Given the description of an element on the screen output the (x, y) to click on. 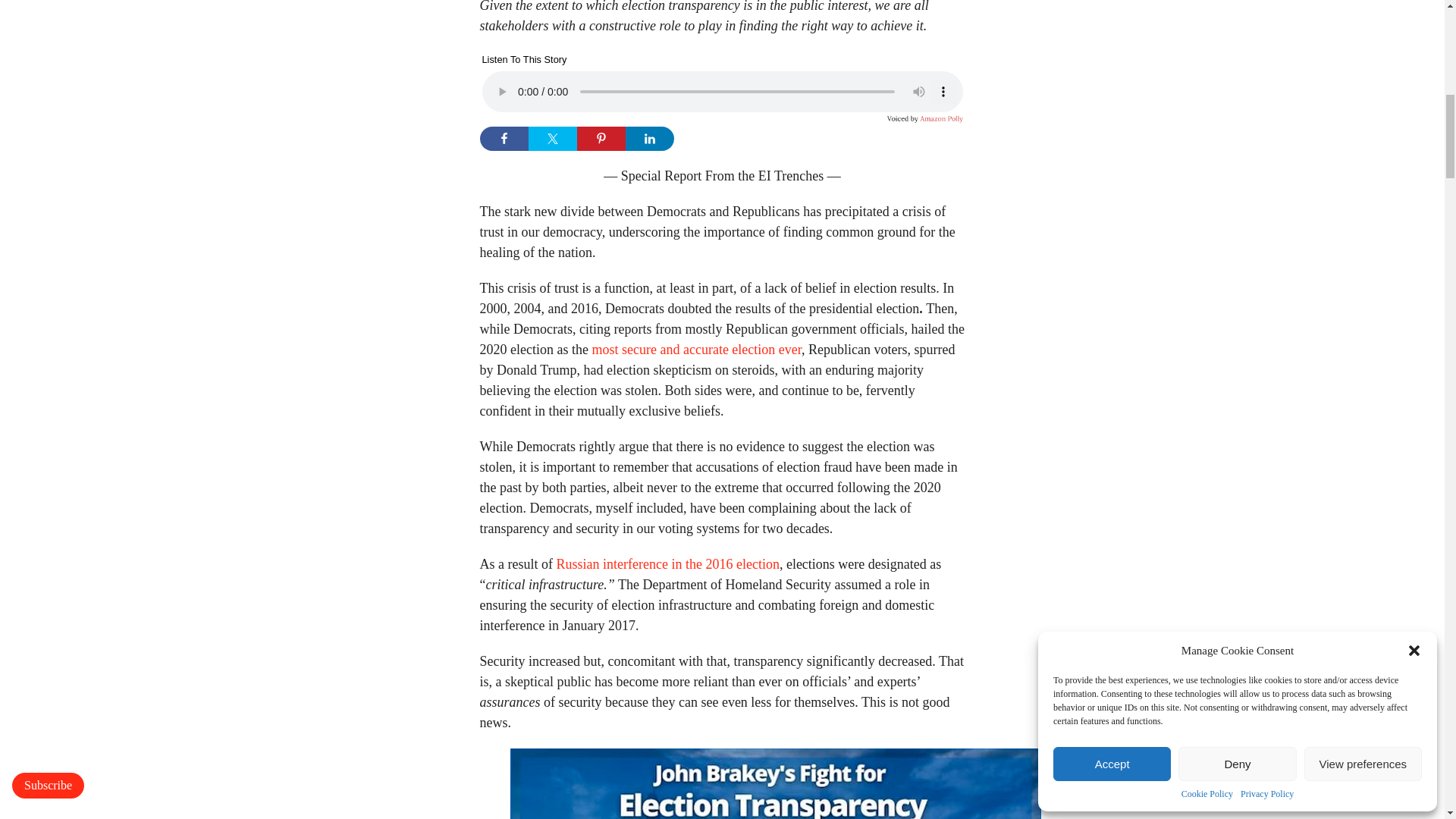
Share on LinkedIn (648, 138)
Share on Twitter (551, 138)
Share on Facebook (503, 138)
Share on Pinterest (600, 138)
